Given the description of an element on the screen output the (x, y) to click on. 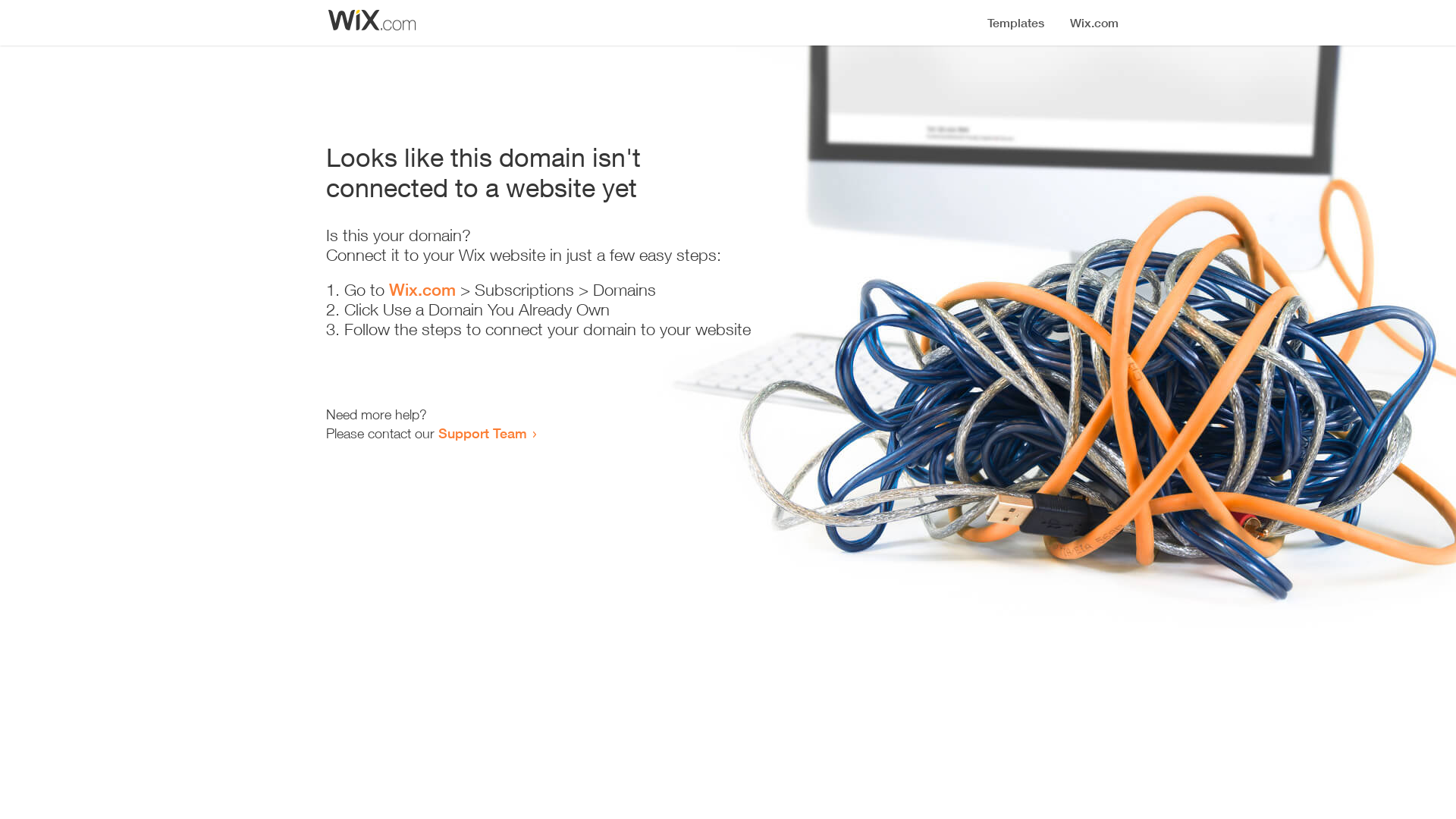
Wix.com Element type: text (422, 289)
Support Team Element type: text (482, 432)
